Given the description of an element on the screen output the (x, y) to click on. 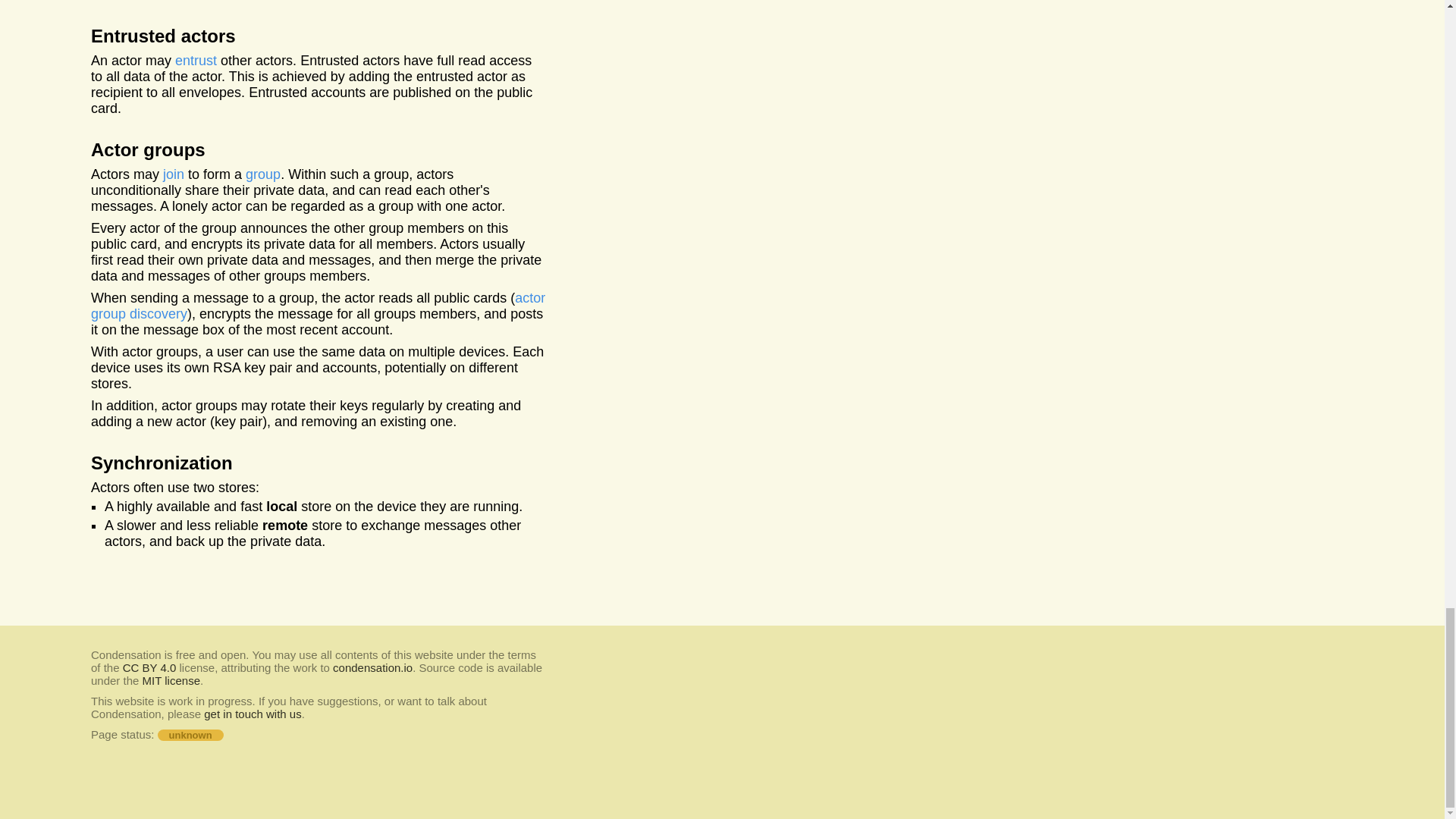
entrust (171, 680)
join (195, 60)
group (173, 174)
actor group discovery (263, 174)
CC BY 4.0 (317, 305)
condensation.io (149, 667)
get in touch with us (372, 667)
